Given the description of an element on the screen output the (x, y) to click on. 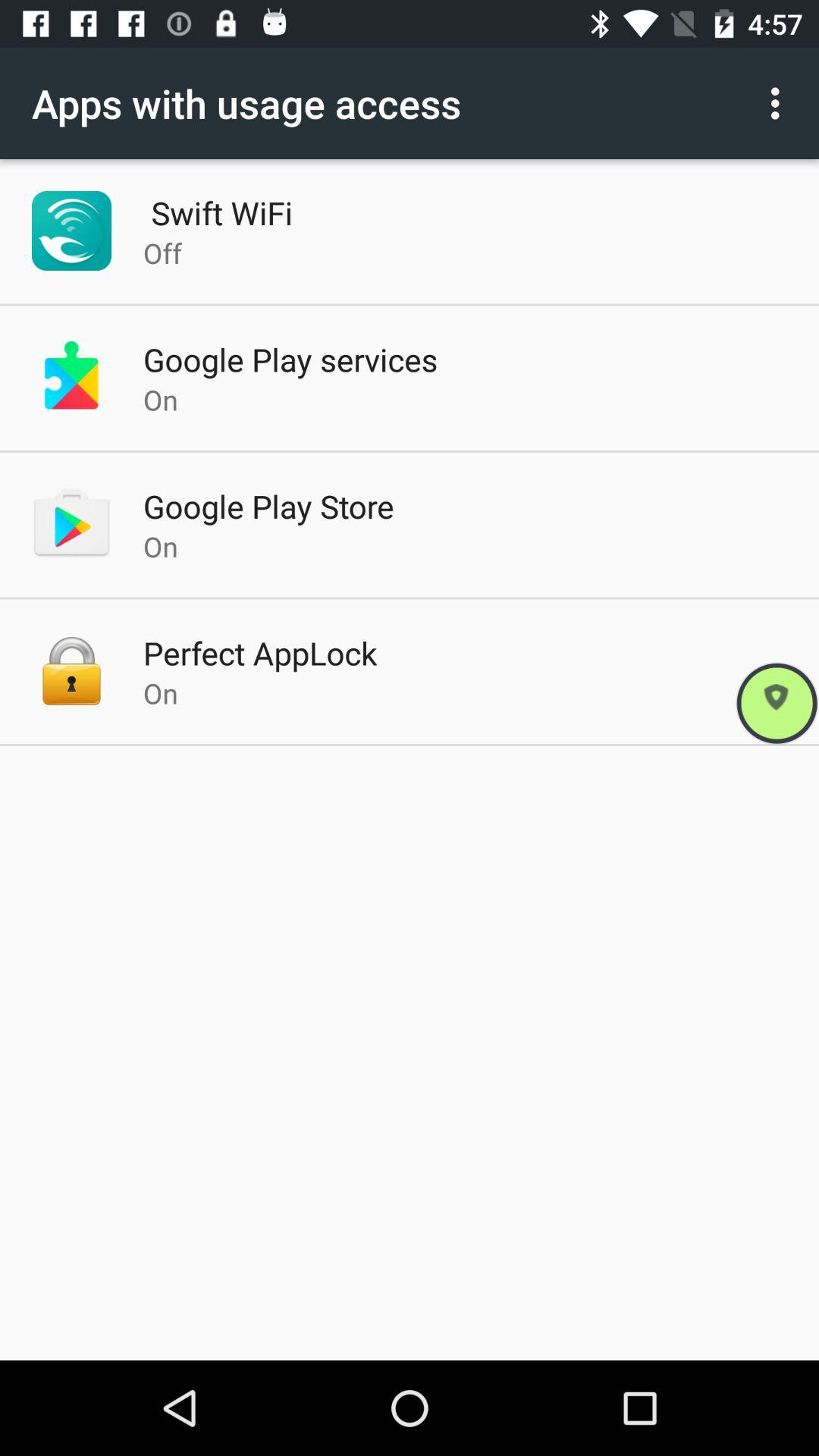
go to left of swift wifi (71, 230)
click on the option button on the right hand top side (779, 103)
